Given the description of an element on the screen output the (x, y) to click on. 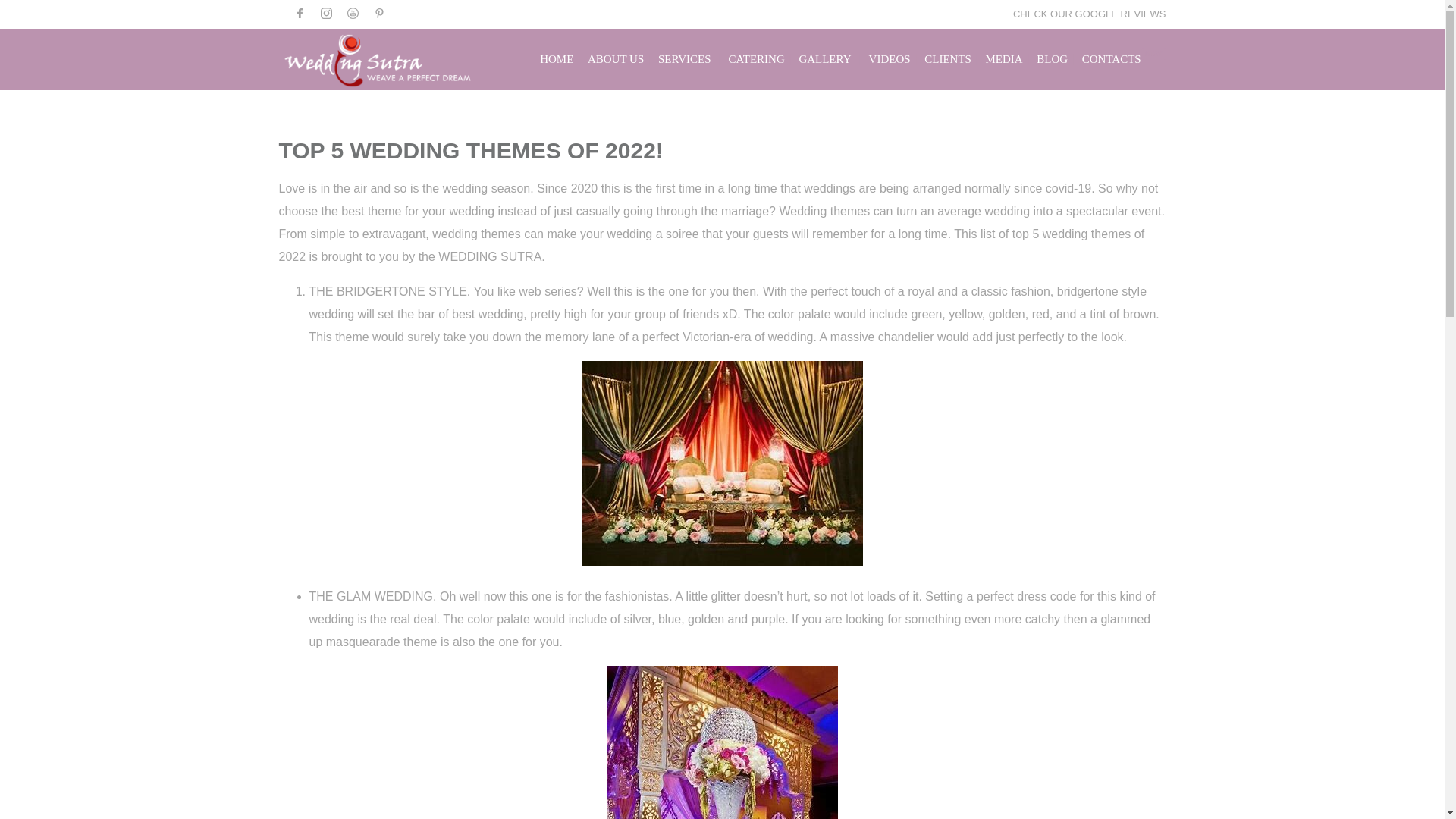
CHECK OUR GOOGLE REVIEWS (1089, 13)
HOME (556, 59)
SERVICES (684, 59)
CATERING (756, 59)
ABOUT US (615, 59)
